Given the description of an element on the screen output the (x, y) to click on. 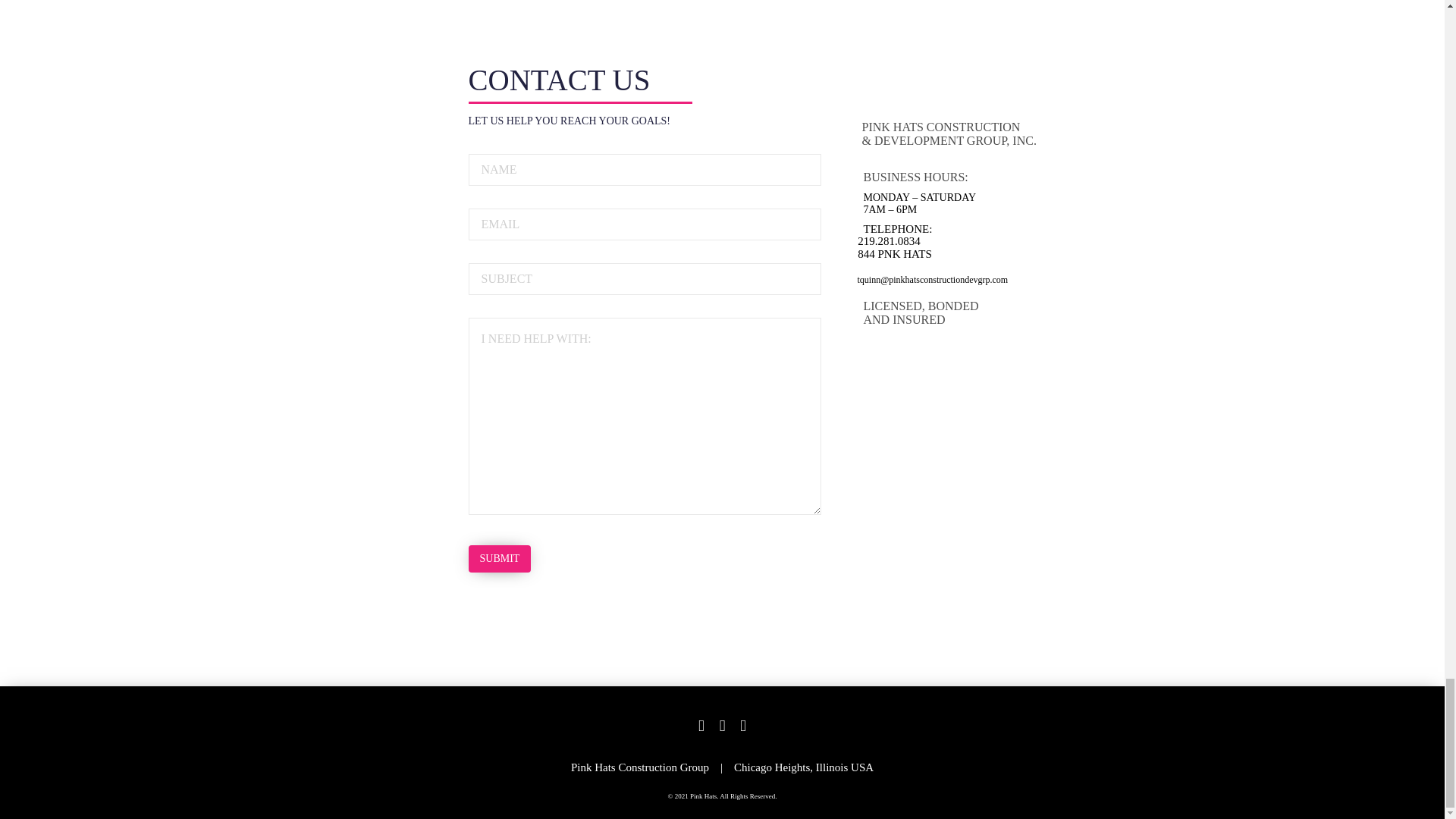
SUBMIT (499, 558)
SUBMIT (499, 558)
844 PNK HATS (949, 254)
219.281.0834 (949, 241)
